Given the description of an element on the screen output the (x, y) to click on. 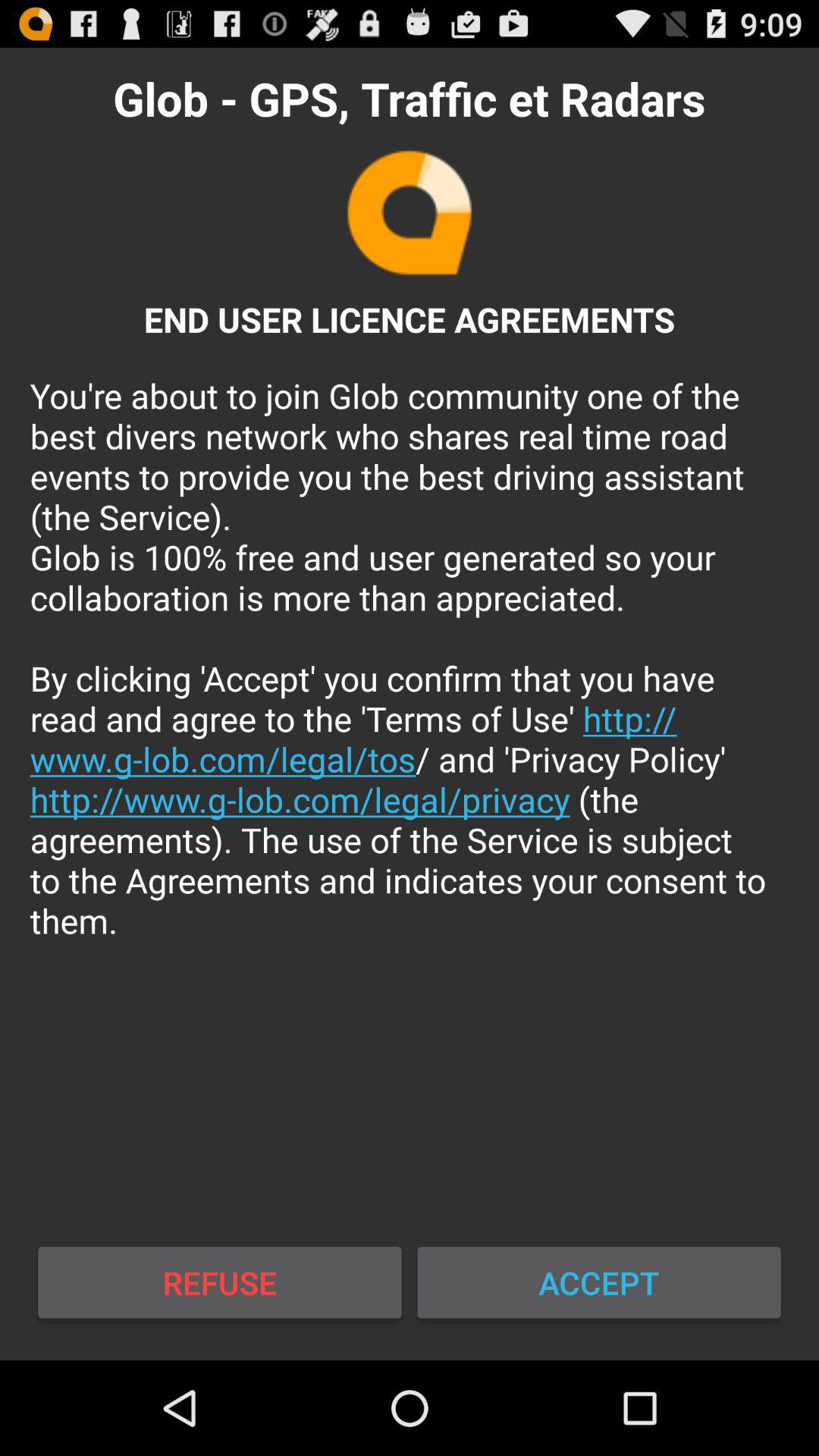
turn on icon to the left of accept icon (219, 1282)
